Given the description of an element on the screen output the (x, y) to click on. 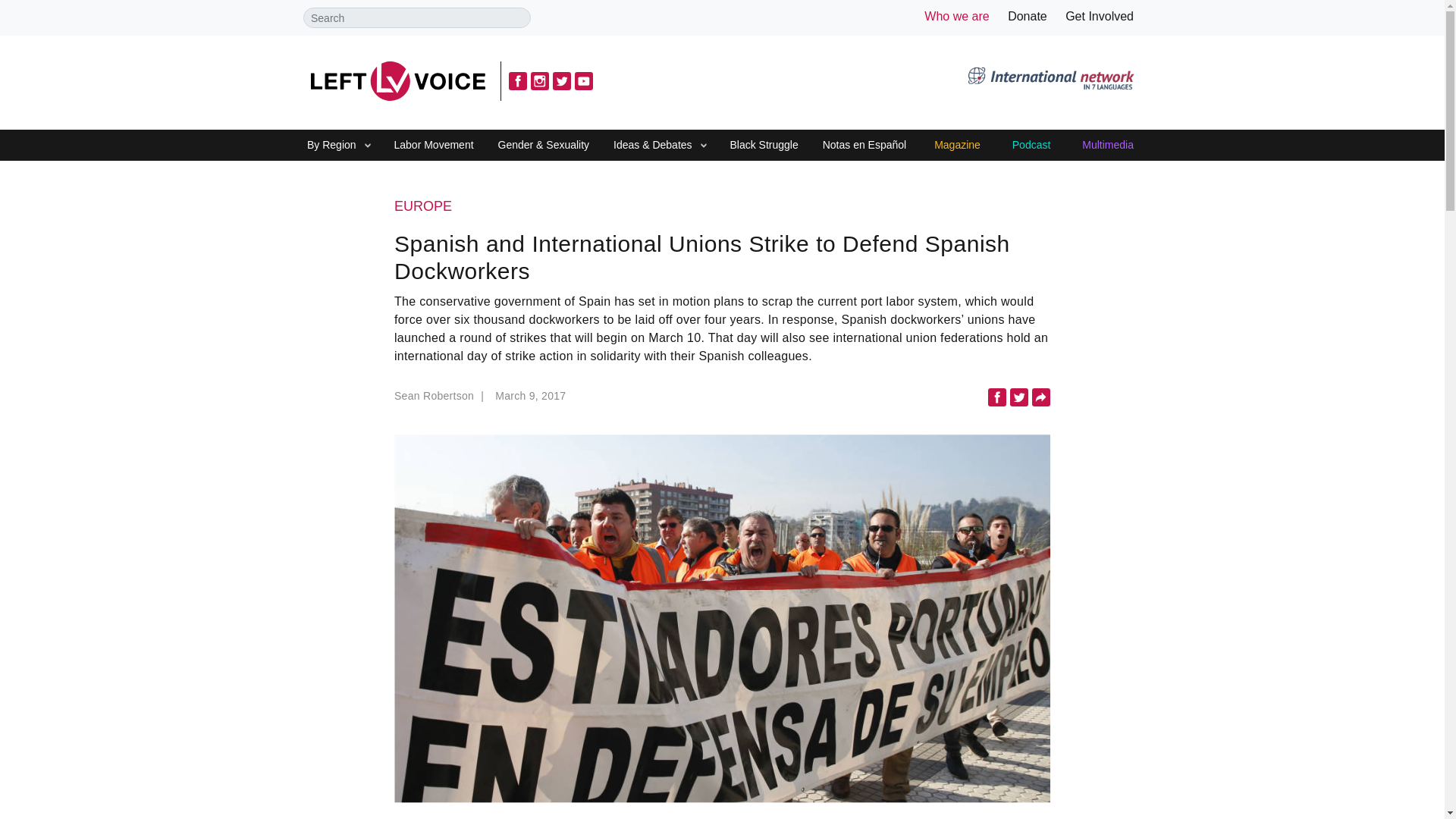
Who we are (956, 15)
Labor Movement (433, 145)
Sean Robertson (440, 399)
Podcast (1031, 145)
International Network (1050, 80)
EUROPE (721, 207)
Multimedia (1107, 145)
By Region (330, 145)
Donate (1027, 15)
Black Struggle (763, 145)
